Given the description of an element on the screen output the (x, y) to click on. 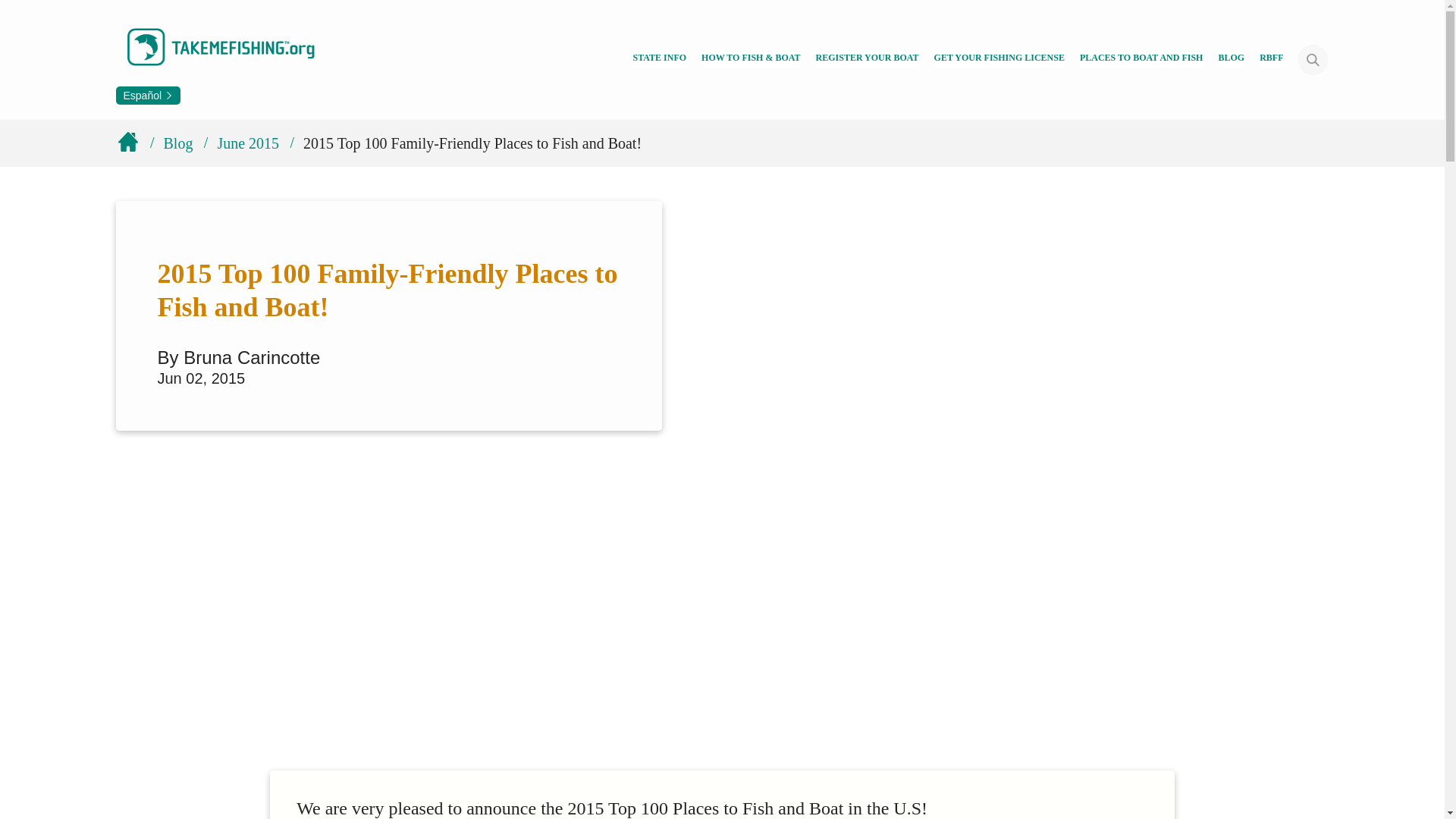
Get Your Fishing License (999, 59)
BLOG (1230, 59)
RBFF (1270, 59)
RBFF (1270, 59)
PLACES TO BOAT AND FISH (1142, 59)
REGISTER YOUR BOAT (866, 59)
Places To Boat And Fish (1142, 59)
GET YOUR FISHING LICENSE (999, 59)
Register Your Boat (866, 59)
Blog (1230, 59)
